Given the description of an element on the screen output the (x, y) to click on. 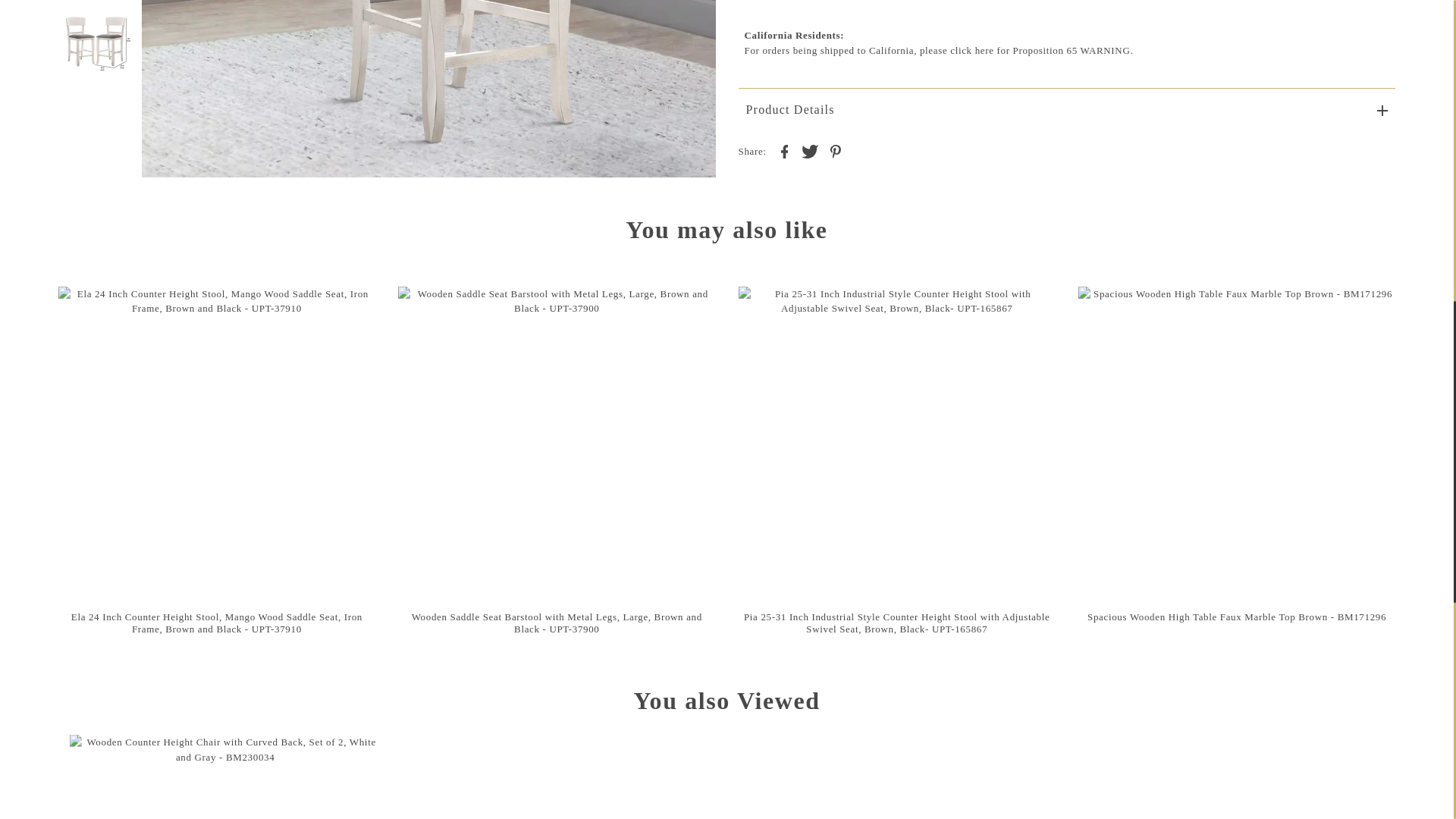
Share on Facebook (784, 150)
Share on Pinterest (835, 150)
Spacious Wooden High Table Faux Marble Top Brown - BM171296 (1236, 444)
Share on Twitter (809, 150)
Proposition-65 (957, 50)
